Given the description of an element on the screen output the (x, y) to click on. 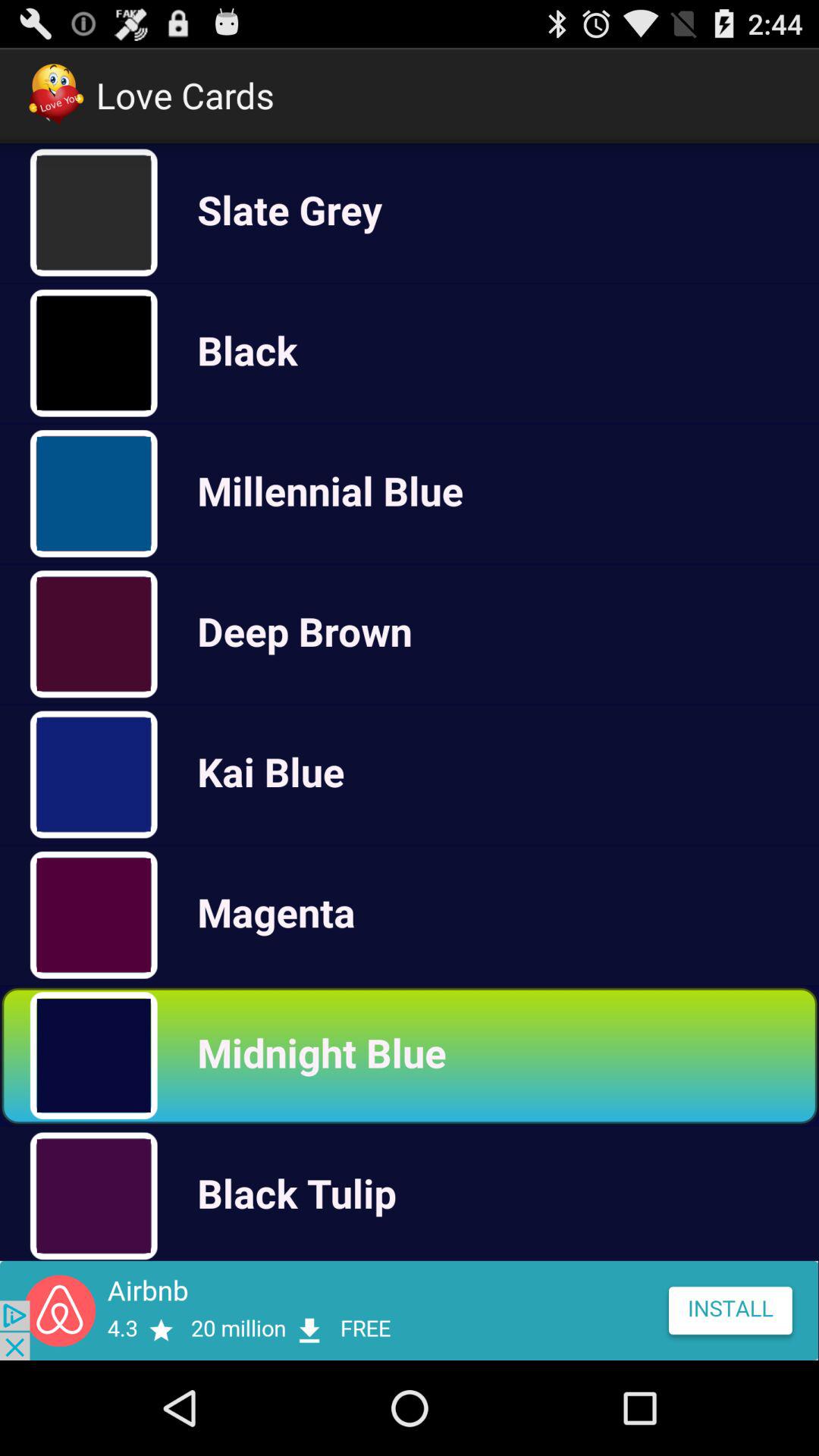
install this app (409, 1310)
